Given the description of an element on the screen output the (x, y) to click on. 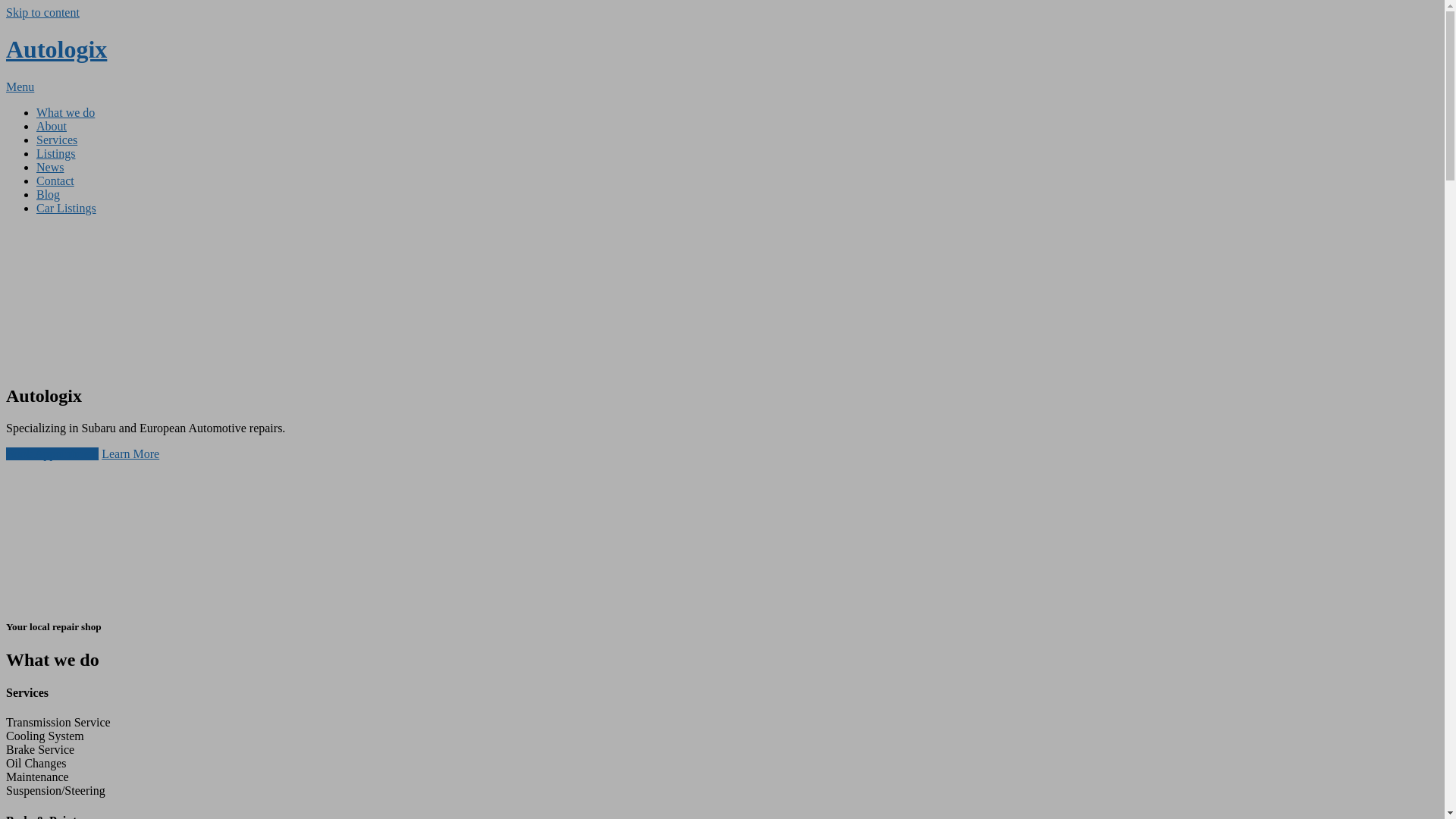
What we do Element type: text (65, 112)
Learn More Element type: text (130, 453)
Services Element type: text (56, 139)
Blog Element type: text (47, 194)
Autologix Element type: text (56, 48)
Car Listings Element type: text (66, 207)
Skip to content Element type: text (42, 12)
News Element type: text (49, 166)
About Element type: text (51, 125)
Listings Element type: text (55, 153)
Contact Element type: text (55, 180)
Book Appointment Element type: text (52, 453)
Menu Element type: text (20, 86)
